Given the description of an element on the screen output the (x, y) to click on. 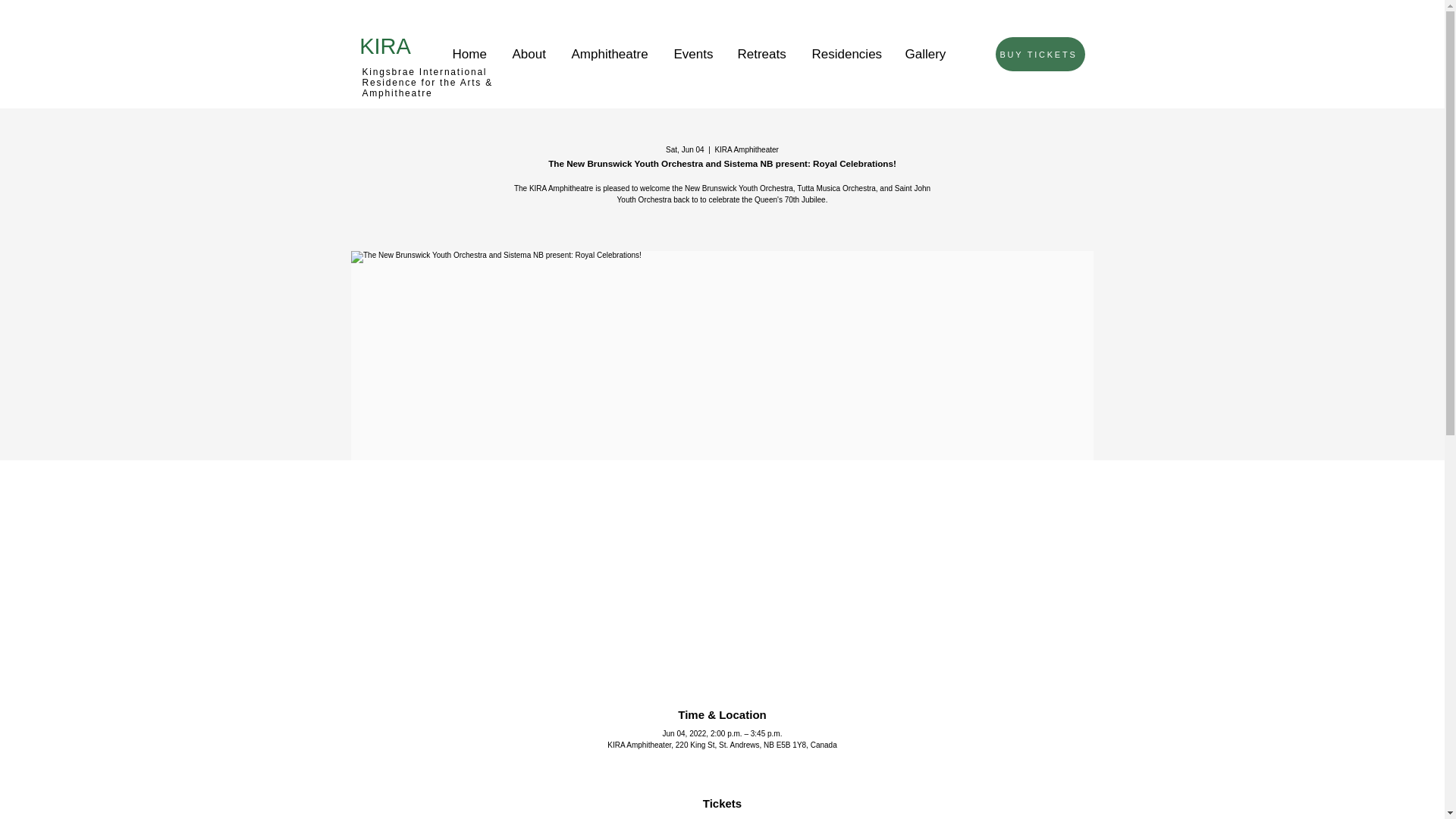
Gallery (924, 47)
Residencies (844, 47)
Amphitheatre (609, 47)
Home (467, 47)
Events (691, 47)
About (528, 47)
BUY TICKETS (1039, 53)
Retreats (760, 47)
